Given the description of an element on the screen output the (x, y) to click on. 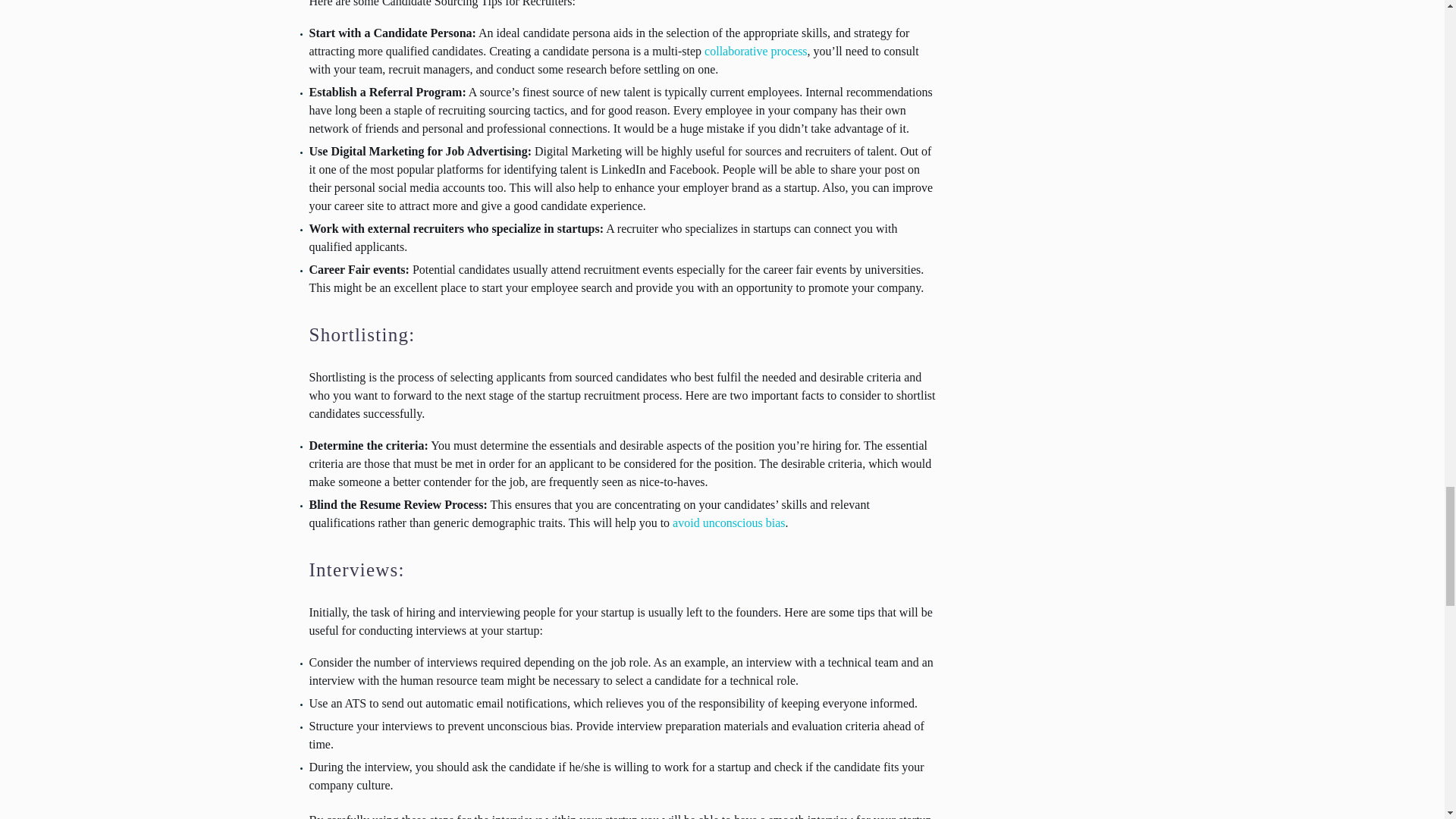
avoid unconscious bias (728, 522)
collaborative process (756, 51)
